Given the description of an element on the screen output the (x, y) to click on. 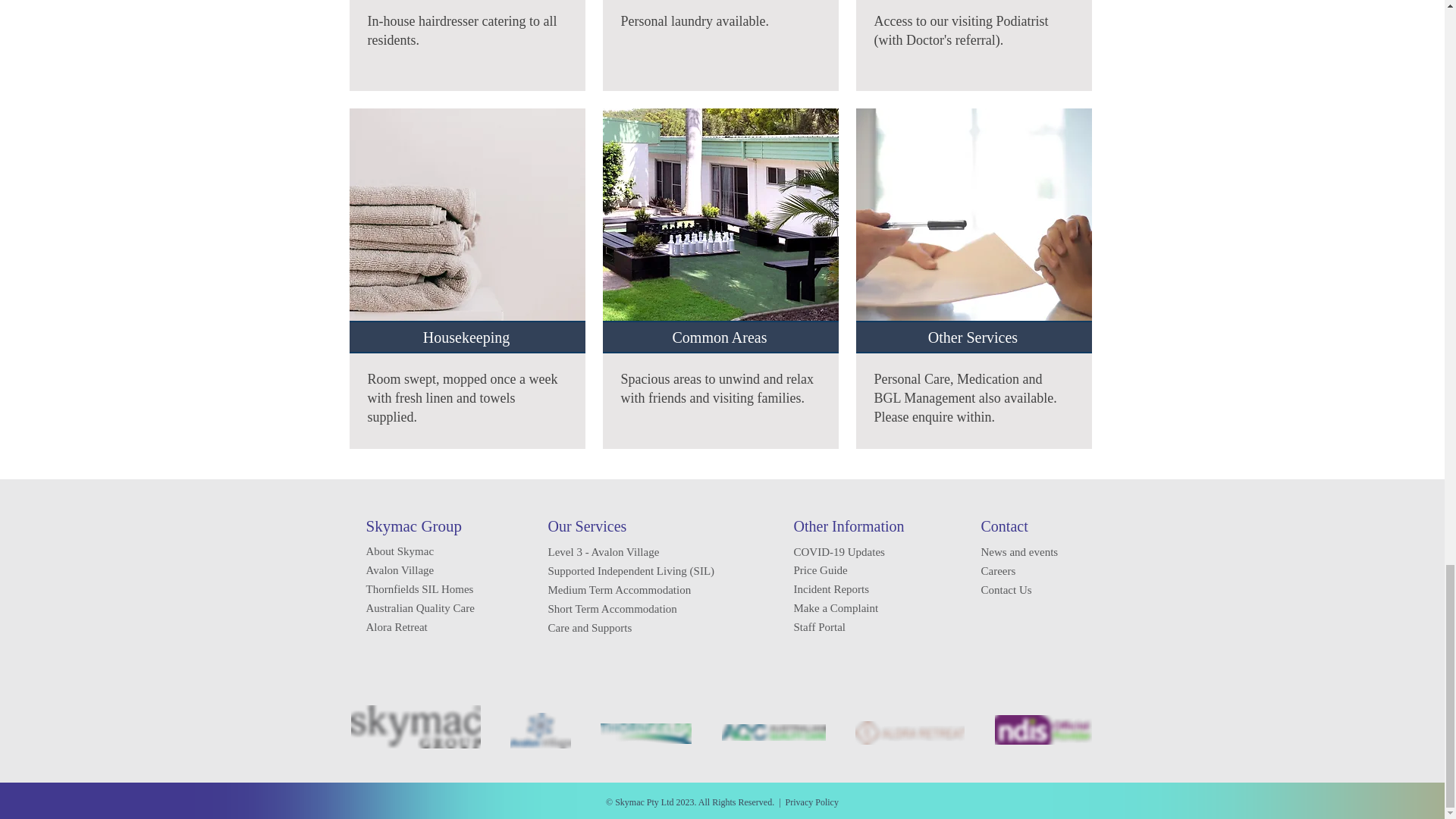
Avalon Village logo (539, 730)
NDIS provider logo (1043, 729)
Incident Reports (831, 589)
Short Term Accommodation (612, 608)
Alora Retreat (395, 626)
Australian Quality Care logo (773, 732)
COVID-19 Updates (838, 551)
Thornfields SIL Homes (419, 589)
Avalon Village (399, 570)
Thornfields logo (645, 733)
